Given the description of an element on the screen output the (x, y) to click on. 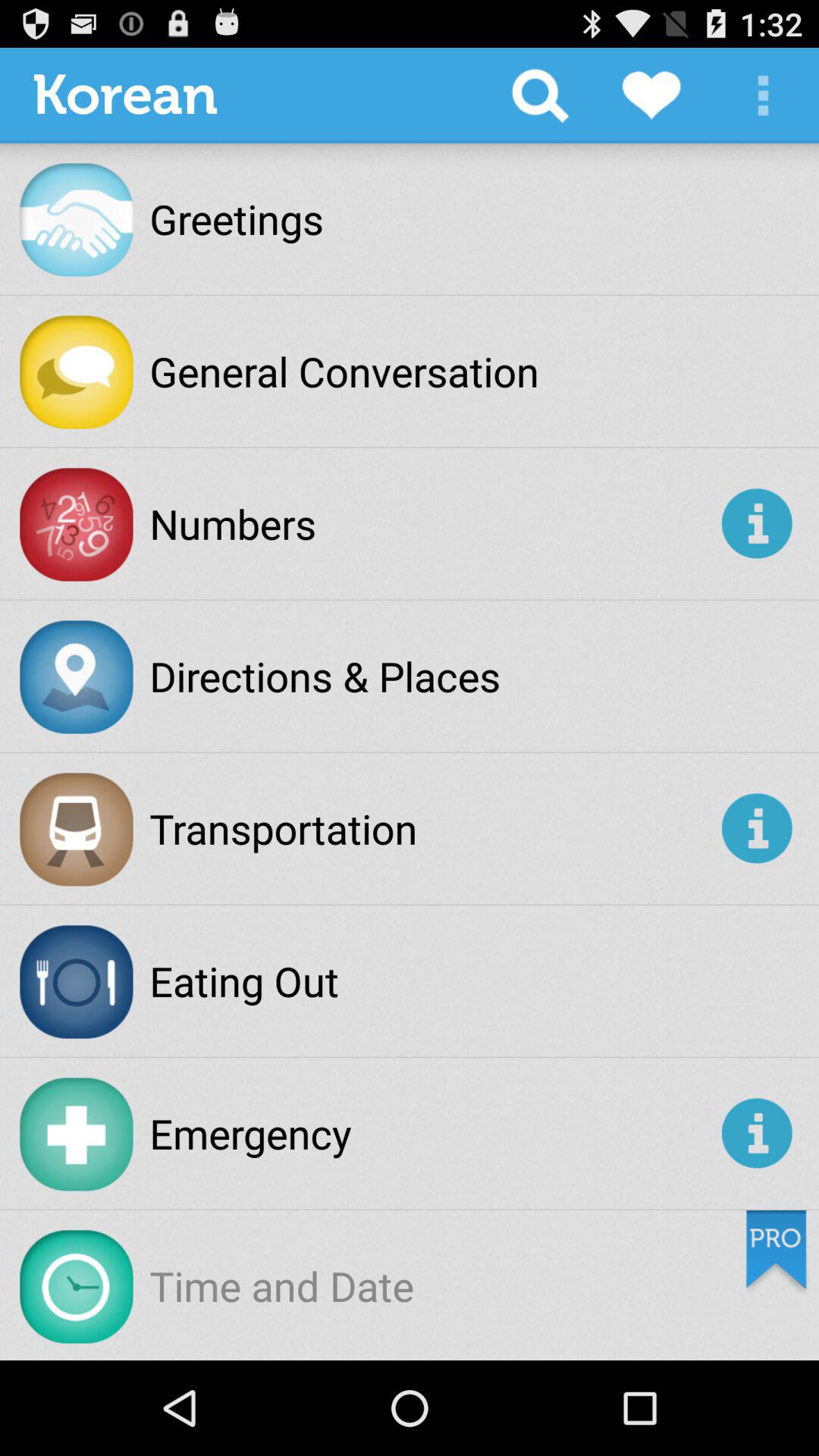
tap numbers item (432, 523)
